Given the description of an element on the screen output the (x, y) to click on. 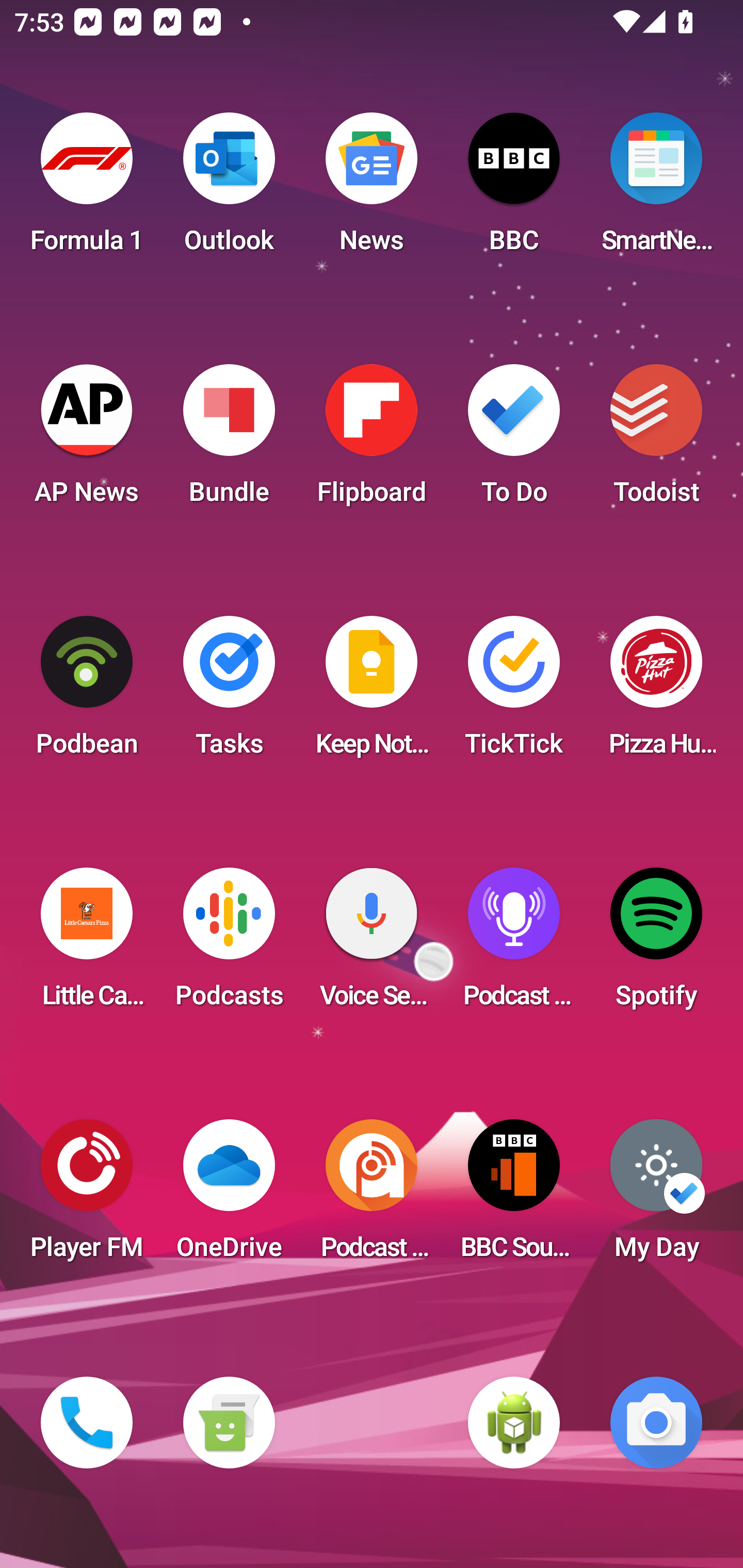
Formula 1 (86, 188)
Outlook (228, 188)
News (371, 188)
BBC (513, 188)
SmartNews (656, 188)
AP News (86, 440)
Bundle (228, 440)
Flipboard (371, 440)
To Do (513, 440)
Todoist (656, 440)
Podbean (86, 692)
Tasks (228, 692)
Keep Notes (371, 692)
TickTick (513, 692)
Pizza Hut HK & Macau (656, 692)
Little Caesars Pizza (86, 943)
Podcasts (228, 943)
Voice Search (371, 943)
Podcast Player (513, 943)
Spotify (656, 943)
Player FM (86, 1195)
OneDrive (228, 1195)
Podcast Addict (371, 1195)
BBC Sounds (513, 1195)
My Day (656, 1195)
Phone (86, 1422)
Messaging (228, 1422)
WebView Browser Tester (513, 1422)
Camera (656, 1422)
